Given the description of an element on the screen output the (x, y) to click on. 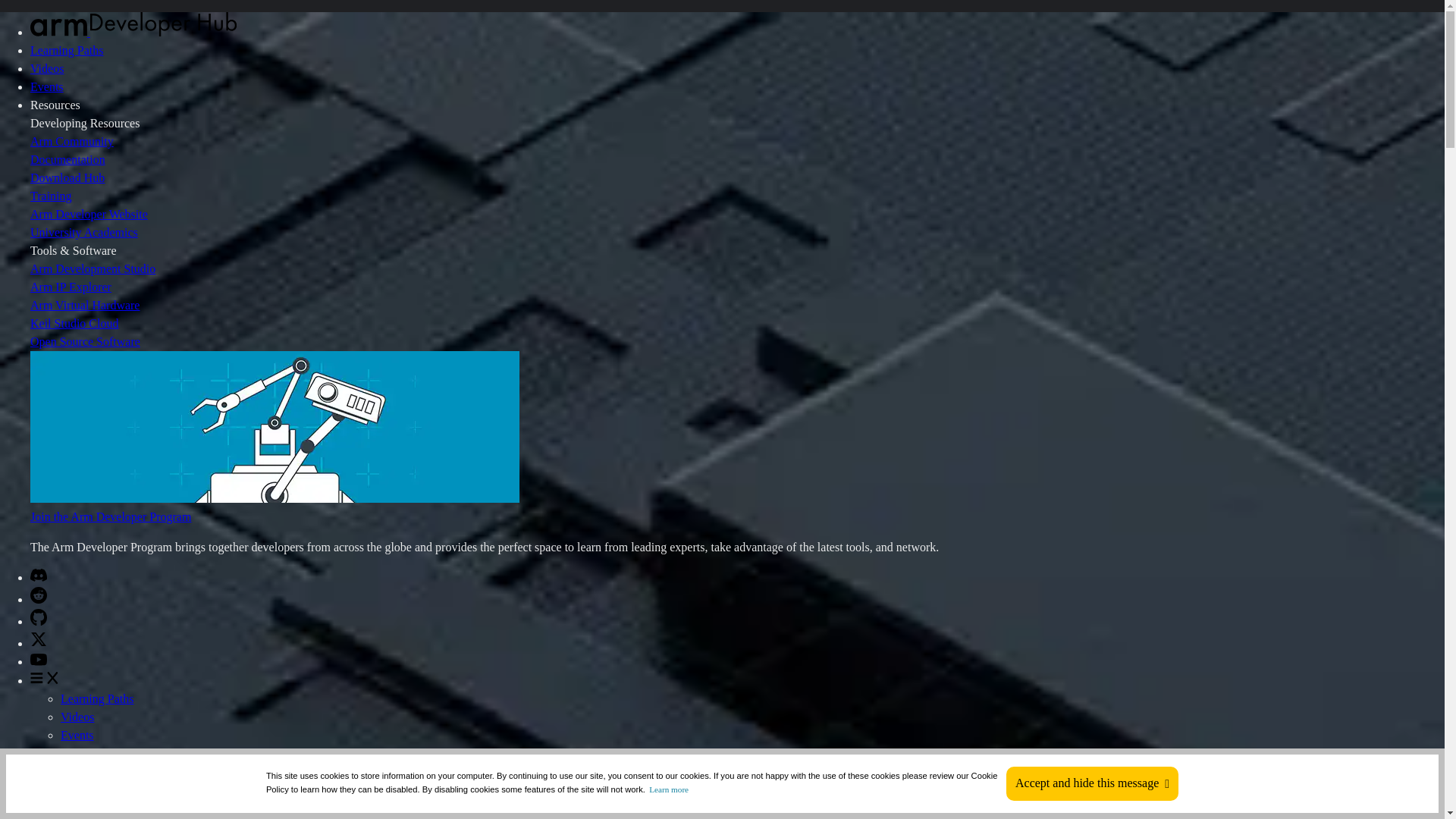
Accept and hide this message (1091, 783)
Learn more (668, 789)
